Given the description of an element on the screen output the (x, y) to click on. 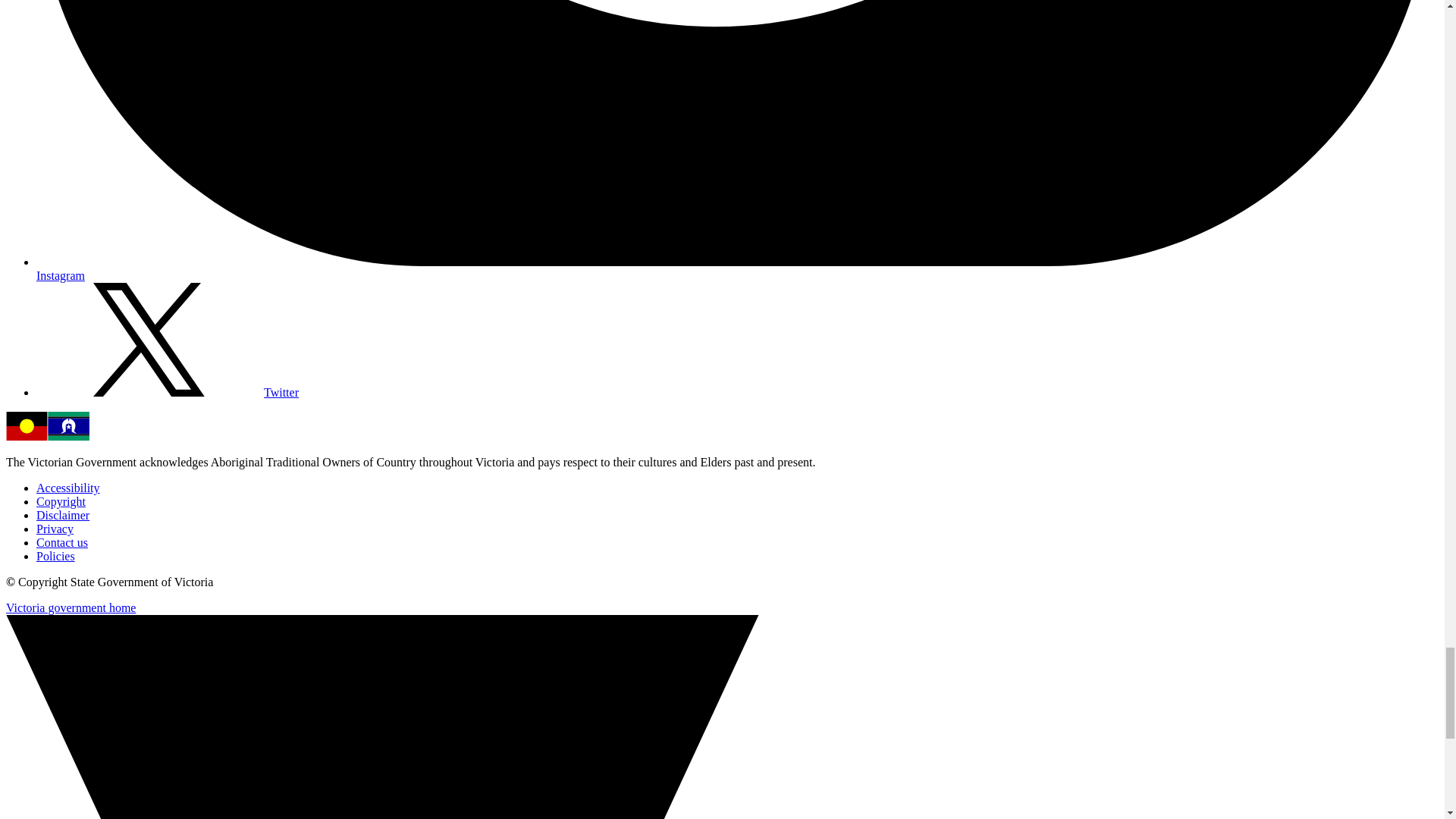
Copyright (60, 501)
Policies (55, 555)
Privacy (55, 528)
Twitter (167, 391)
Disclaimer (62, 514)
Accessibility (68, 487)
Contact us (61, 542)
